Given the description of an element on the screen output the (x, y) to click on. 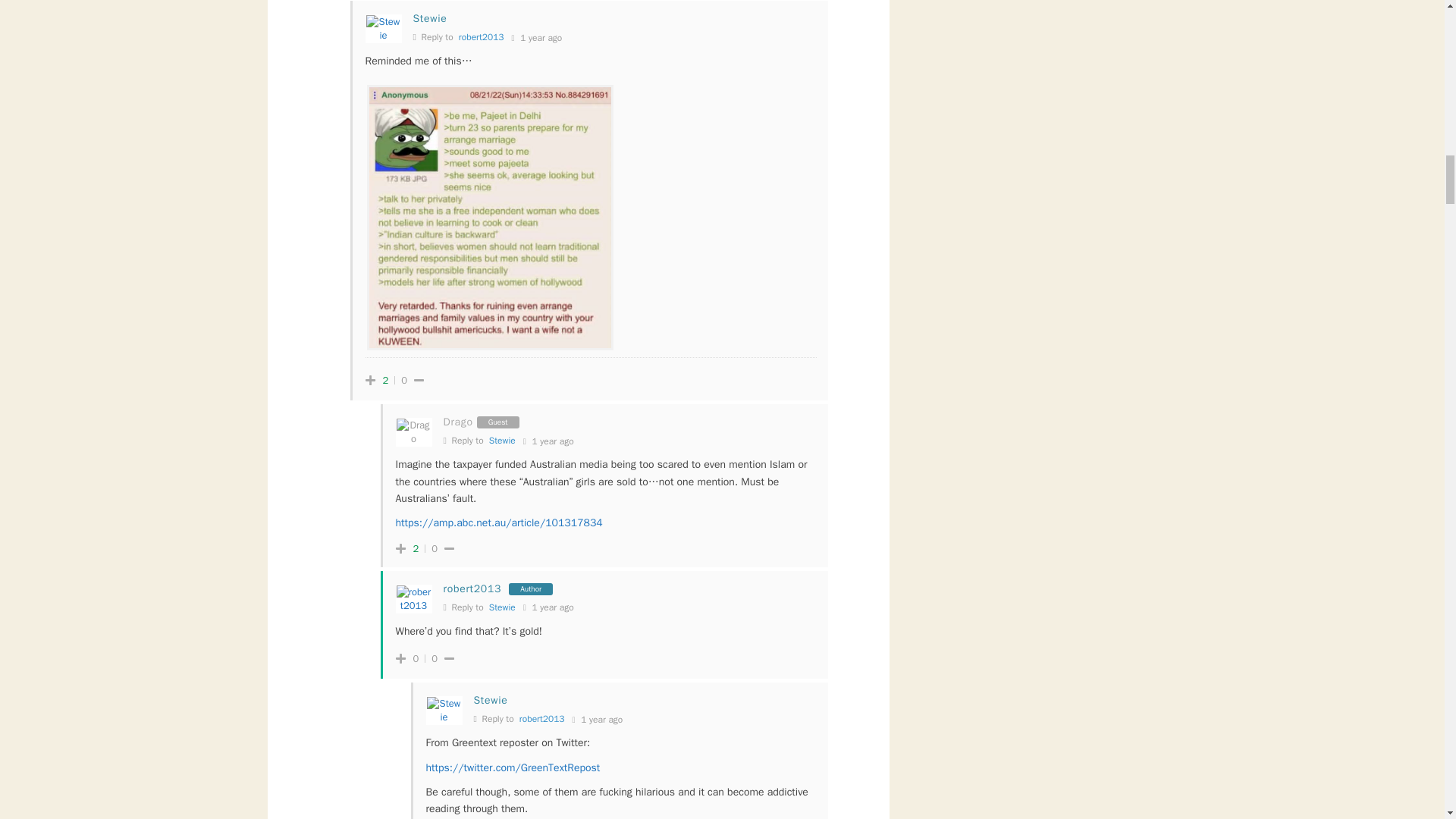
robert2013 (471, 588)
Stewie (489, 699)
robert2013 (480, 37)
Stewie (502, 440)
Stewie (502, 607)
Stewie (429, 18)
